Given the description of an element on the screen output the (x, y) to click on. 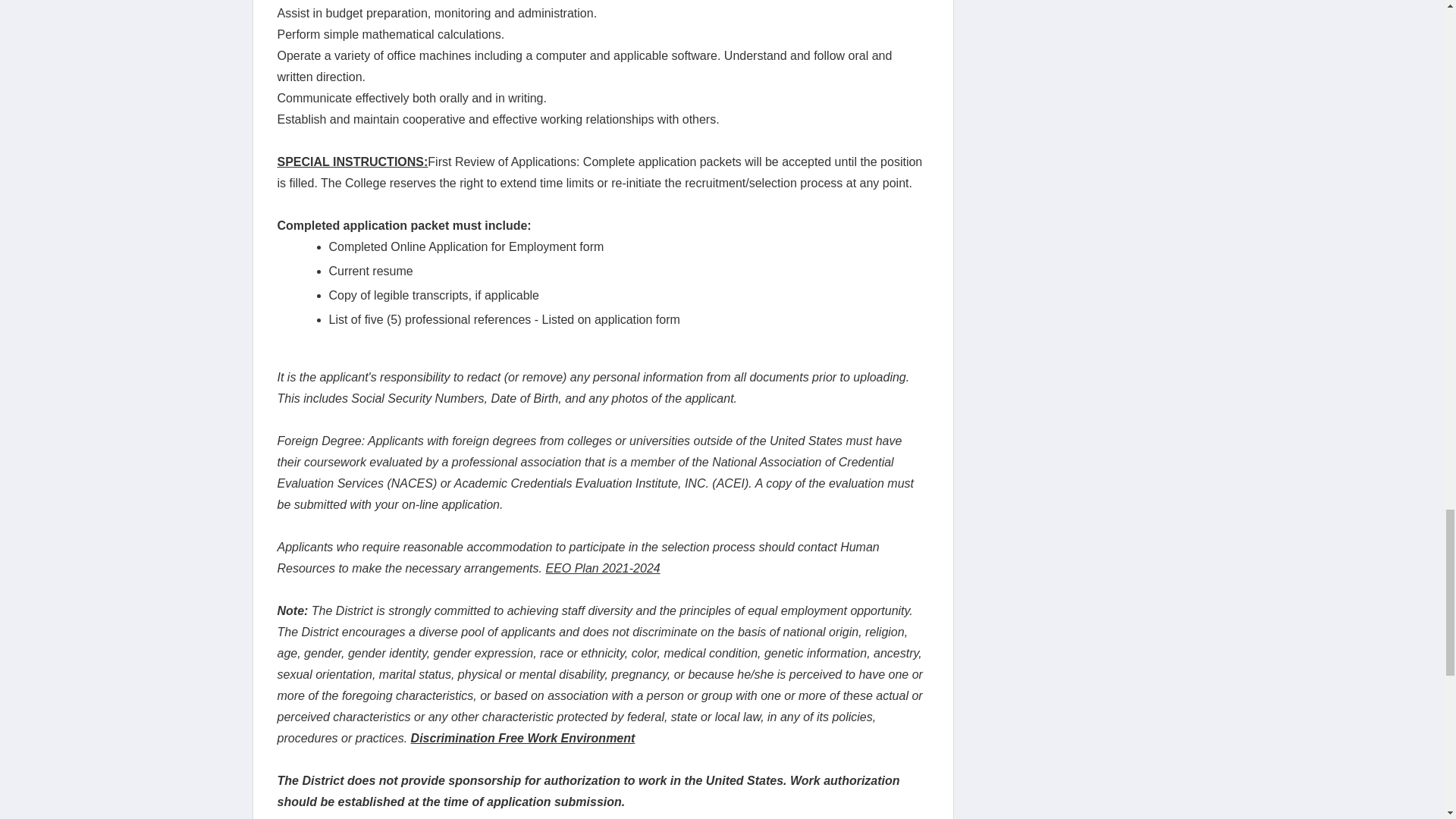
Discrimination Free Work Environment (522, 738)
EEO Plan 2021-2024 (601, 567)
